Given the description of an element on the screen output the (x, y) to click on. 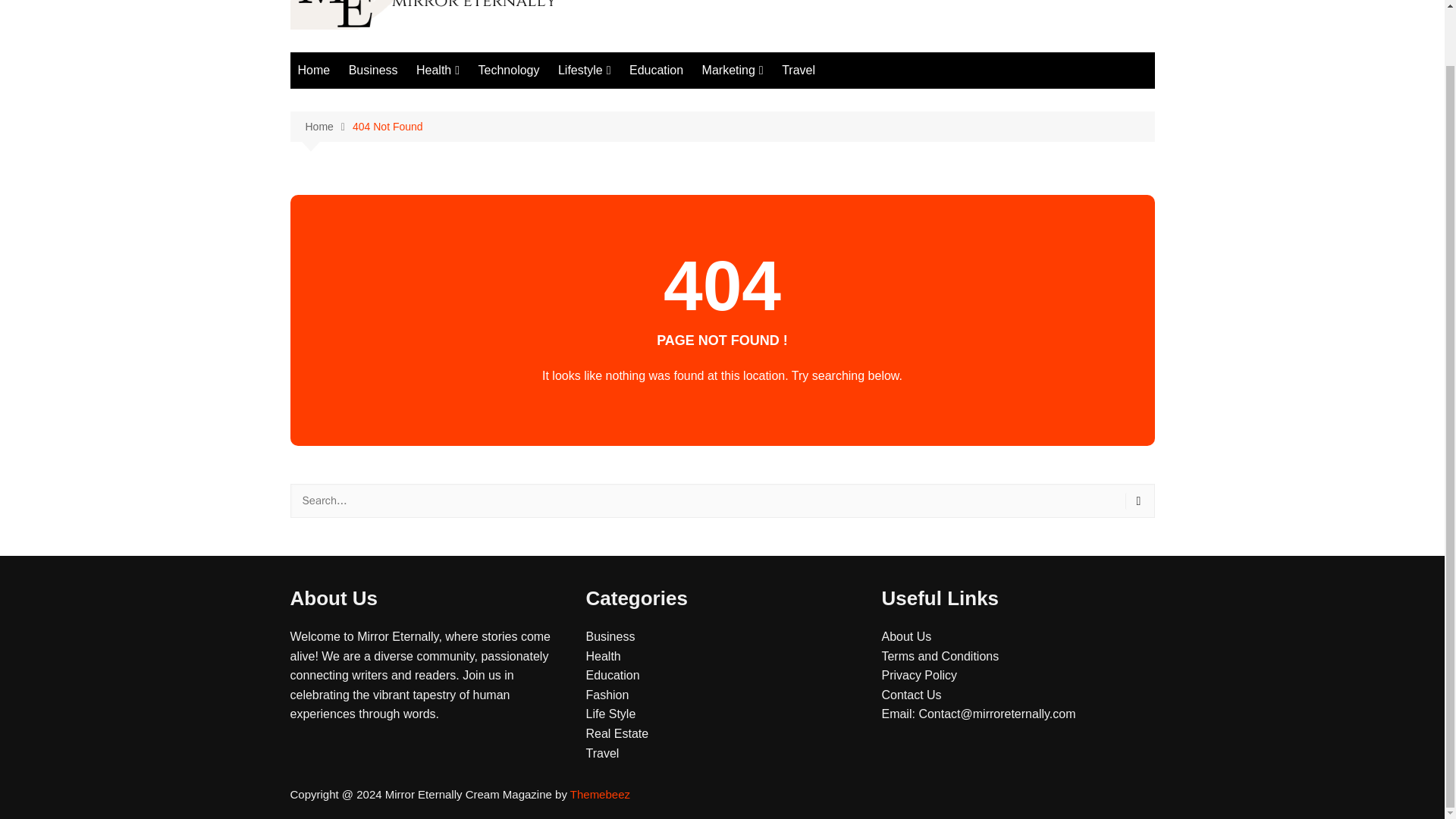
Health (438, 70)
Fashion (606, 694)
Home (313, 70)
Marketing (732, 70)
About Us (905, 635)
Terms and Conditions (939, 656)
Lifestyle (584, 70)
Technology (508, 70)
Contact Us (910, 694)
404 Not Found (387, 126)
